Given the description of an element on the screen output the (x, y) to click on. 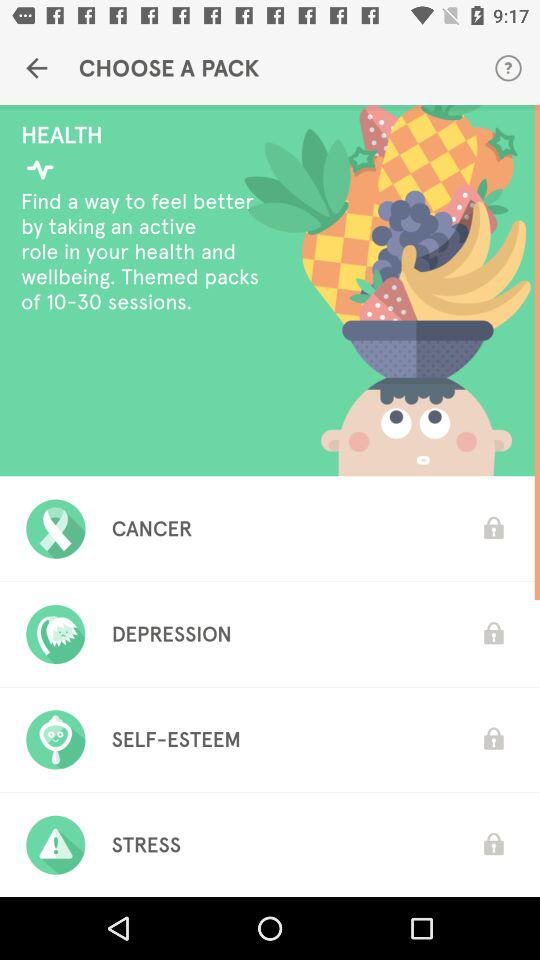
jump until depression icon (171, 634)
